Given the description of an element on the screen output the (x, y) to click on. 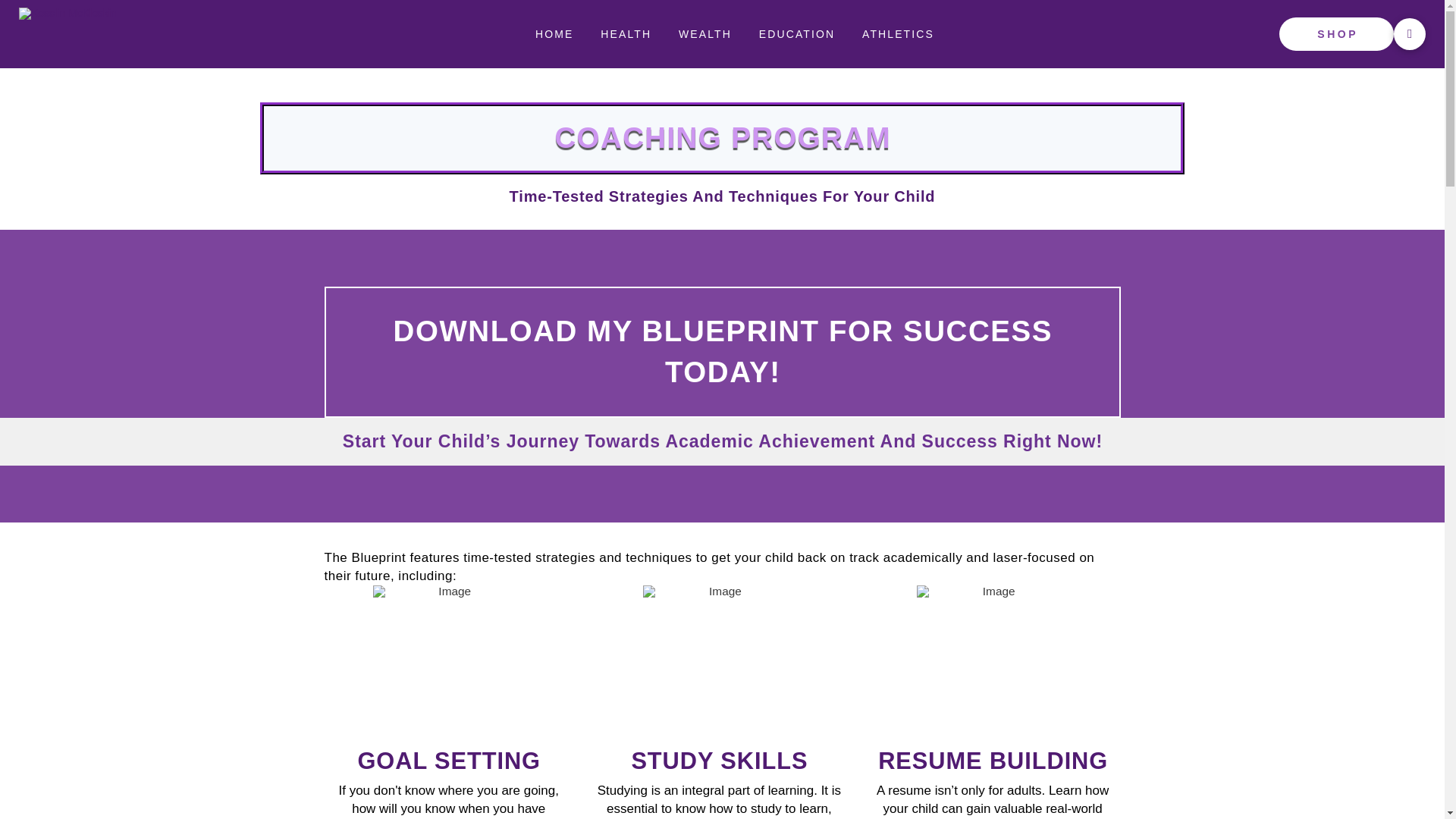
WEALTH (703, 33)
EDUCATION (795, 33)
SHOP (1336, 33)
ATHLETICS (897, 33)
HEALTH (624, 33)
HOME (553, 33)
